Given the description of an element on the screen output the (x, y) to click on. 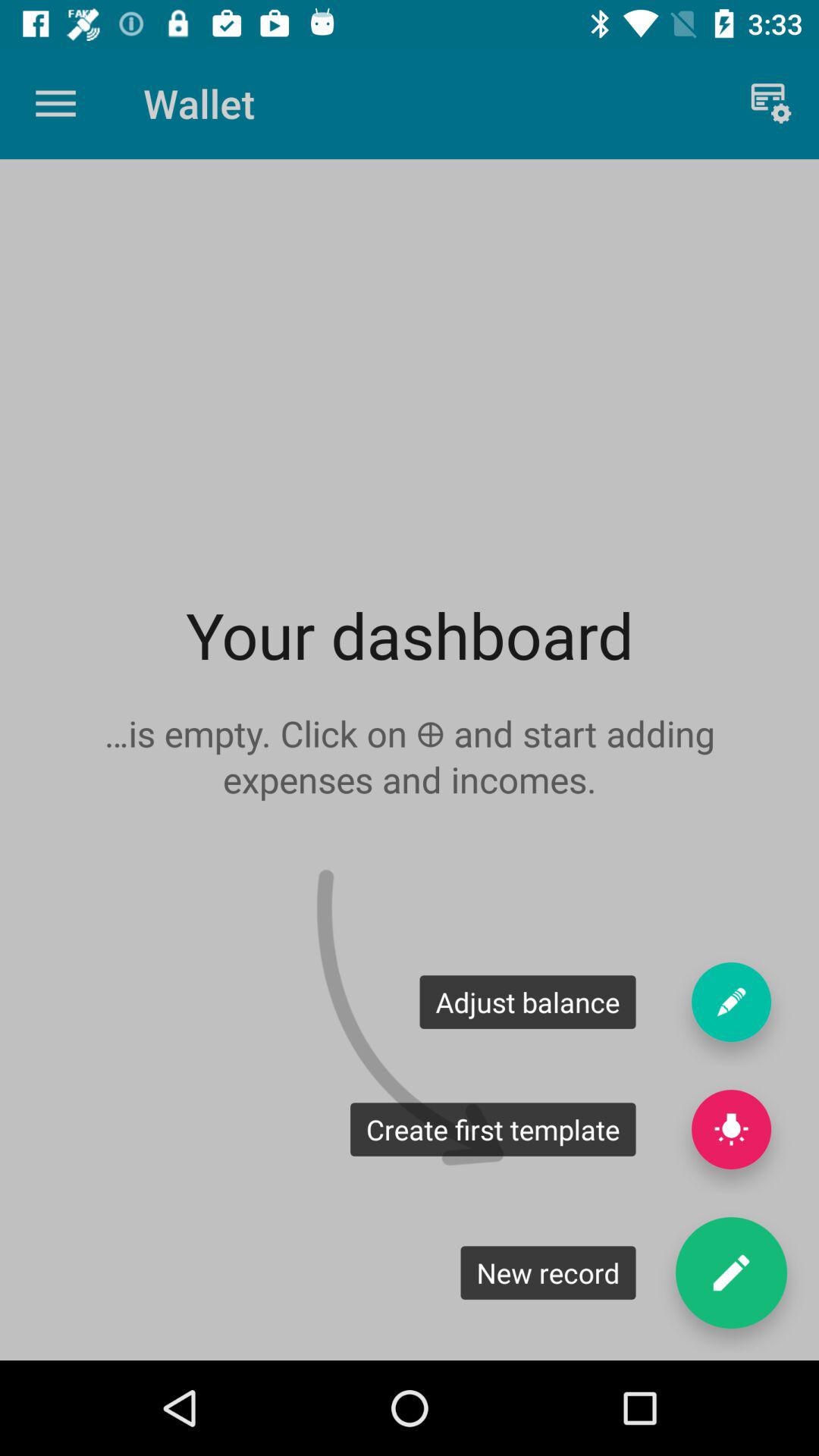
select the content above adjust balance (409, 756)
